Given the description of an element on the screen output the (x, y) to click on. 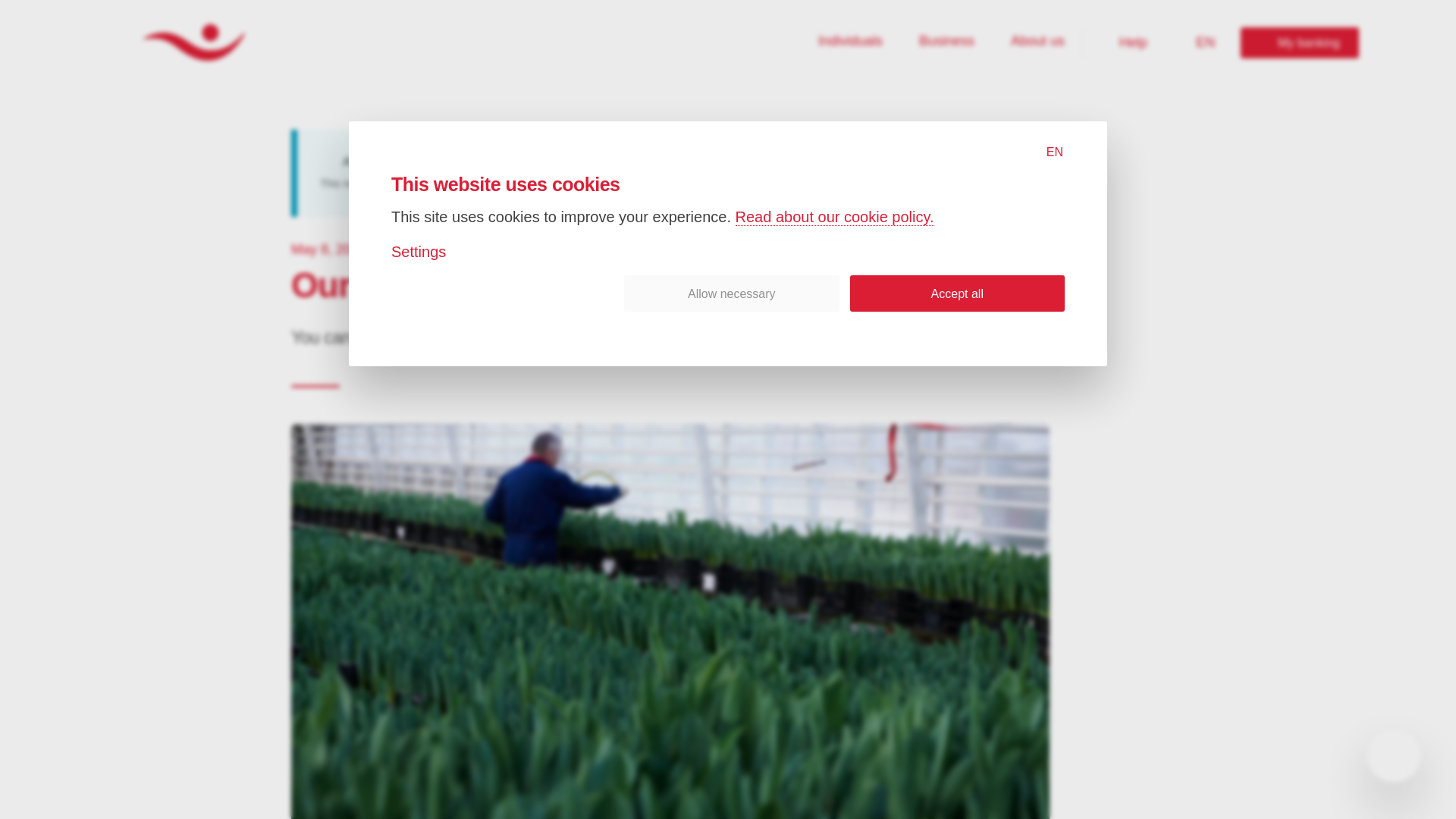
Individuals (1299, 42)
Select language (850, 42)
Help (1203, 42)
Business (1124, 42)
About us (946, 42)
Select language (1037, 42)
